Given the description of an element on the screen output the (x, y) to click on. 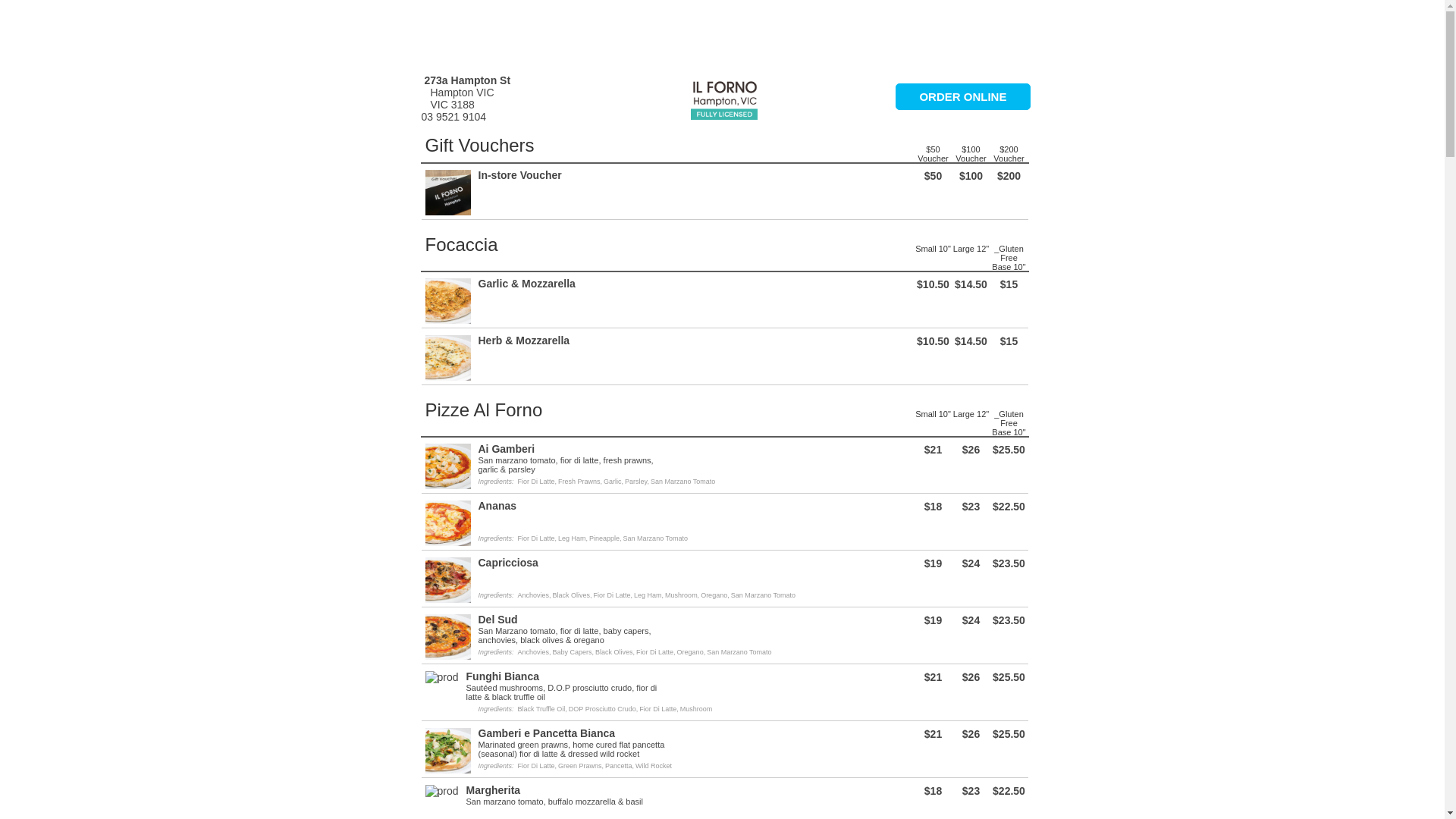
ORDER ONLINE Element type: text (962, 96)
Pizze Al Forno Element type: text (483, 409)
Focaccia Element type: text (460, 244)
Gift Vouchers Element type: text (478, 144)
